Given the description of an element on the screen output the (x, y) to click on. 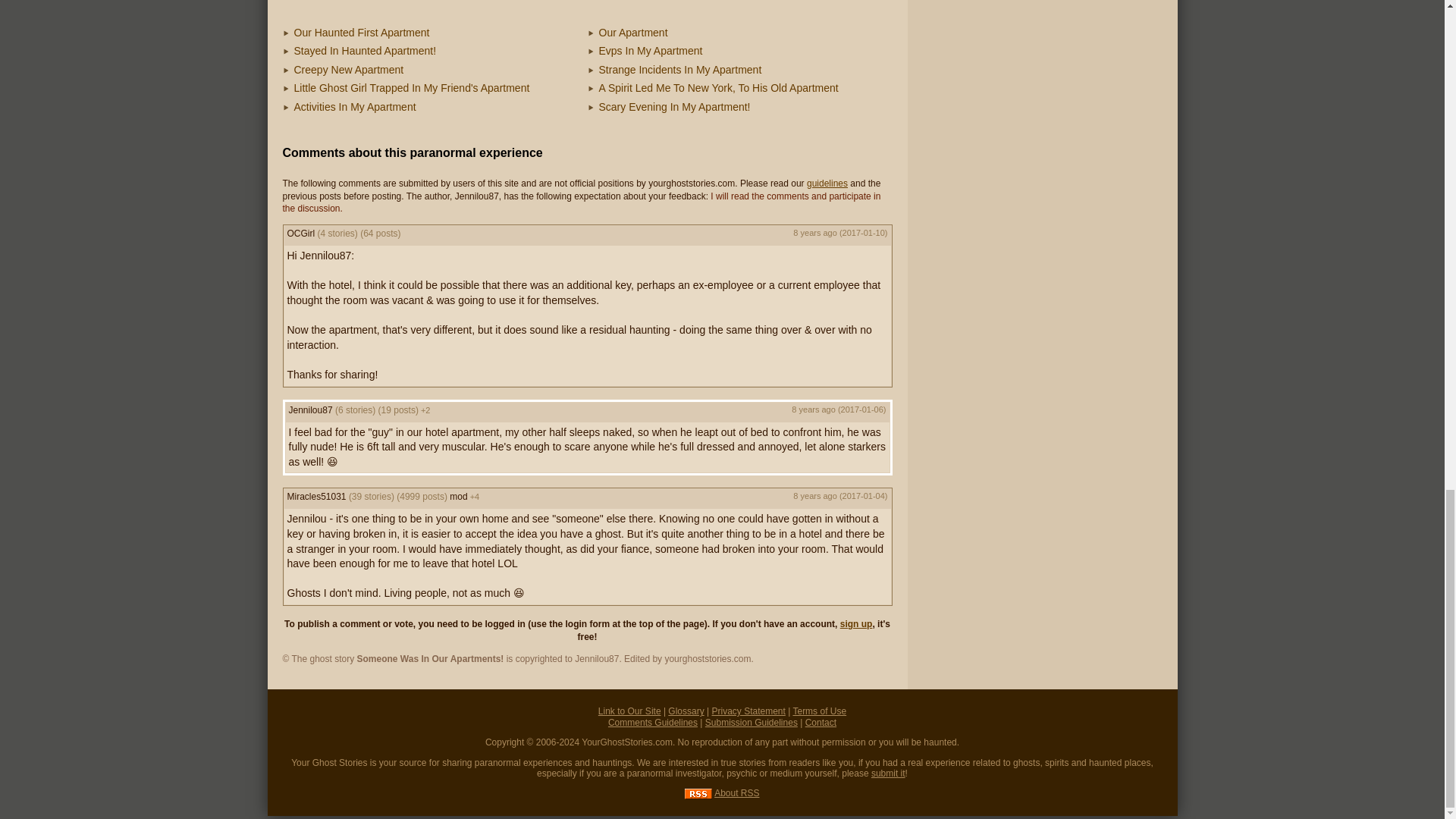
Stayed In Haunted Apartment! (365, 50)
Little Ghost Girl Trapped In My Friend's Apartment (411, 87)
Our Haunted First Apartment (361, 31)
Creepy New Apartment (349, 69)
